Given the description of an element on the screen output the (x, y) to click on. 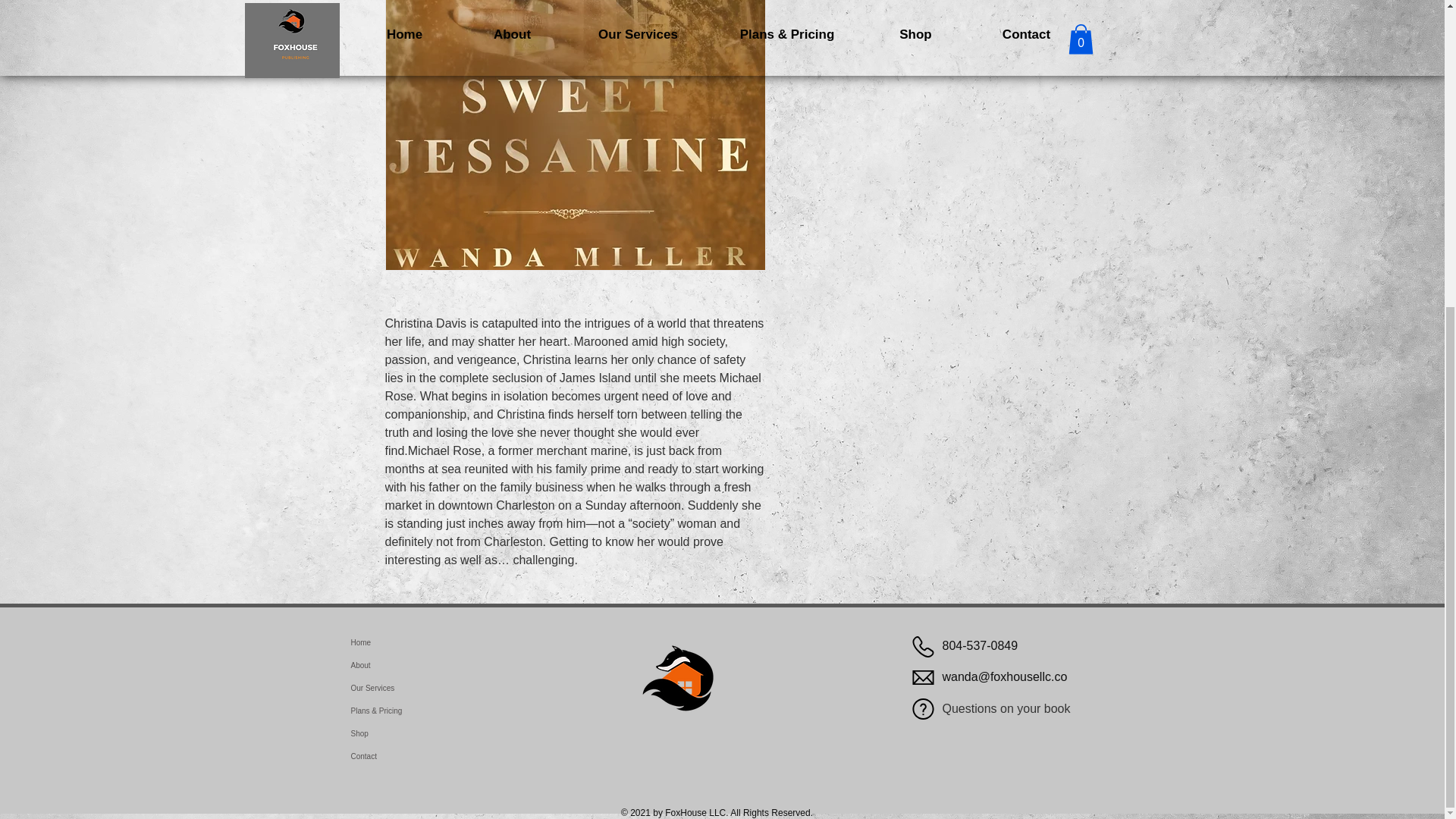
Contact (437, 756)
Our Services (437, 688)
Shop (437, 733)
Home (437, 642)
About (437, 665)
